Given the description of an element on the screen output the (x, y) to click on. 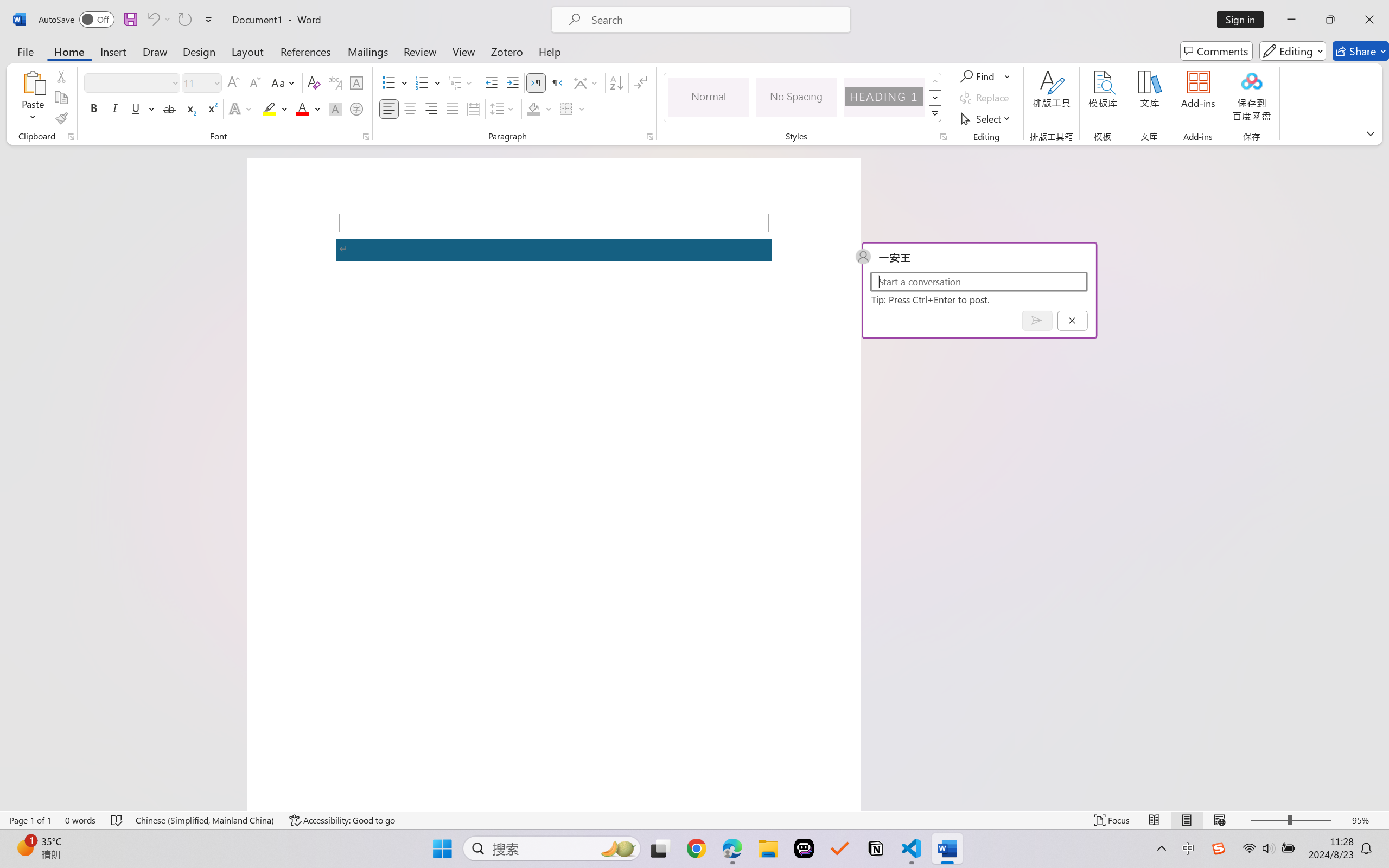
AutomationID: QuickStylesGallery (802, 97)
Cancel (1072, 320)
